Given the description of an element on the screen output the (x, y) to click on. 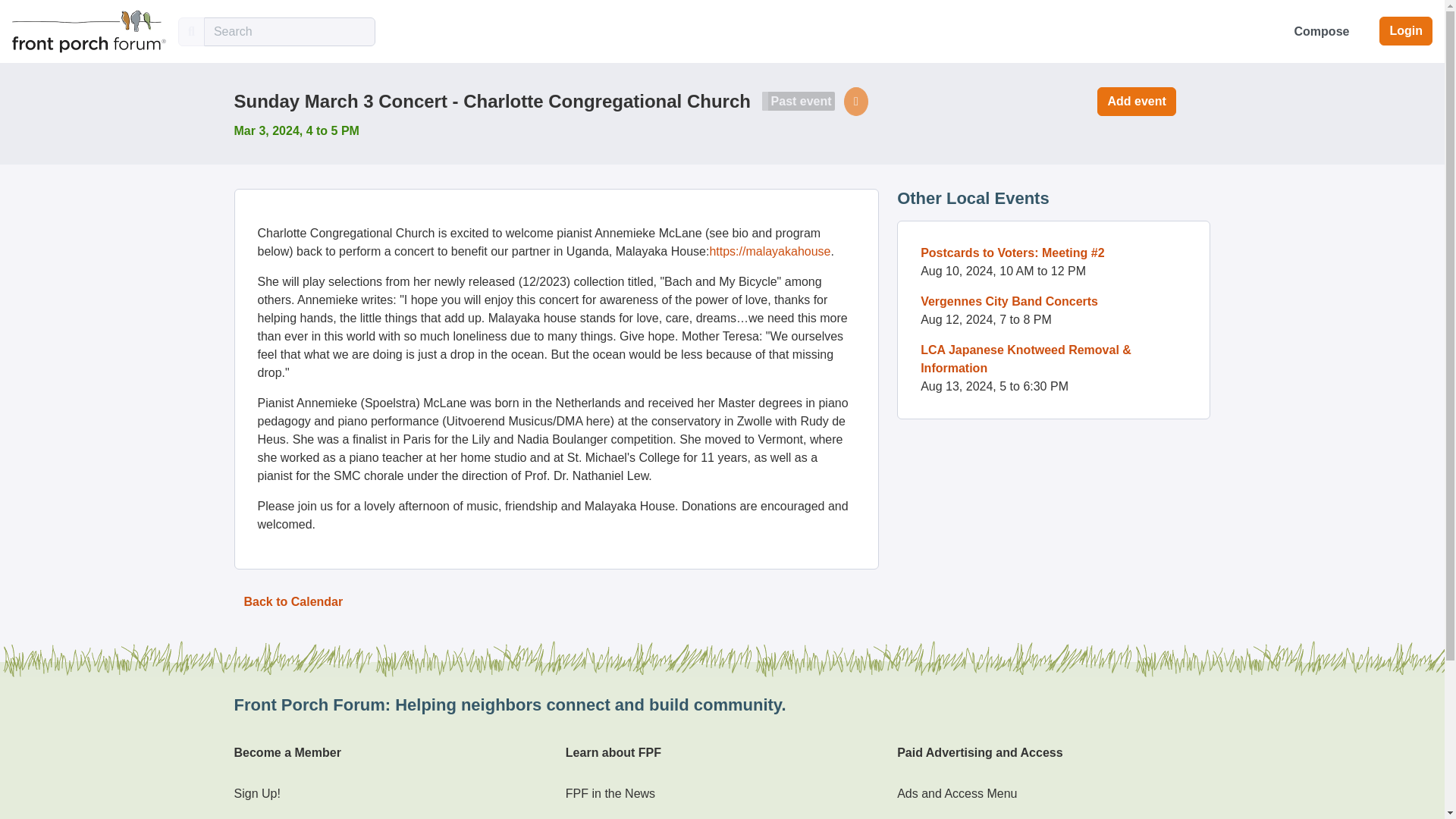
Blog (577, 818)
Login (1405, 30)
Ads and Access Menu (956, 793)
Vergennes City Band Concerts (1008, 300)
FPF in the News (610, 793)
Sign Up! (255, 793)
Add event (1135, 101)
Back to Calendar (292, 602)
Access Plans (932, 818)
Is FPF for Me? (273, 818)
